Given the description of an element on the screen output the (x, y) to click on. 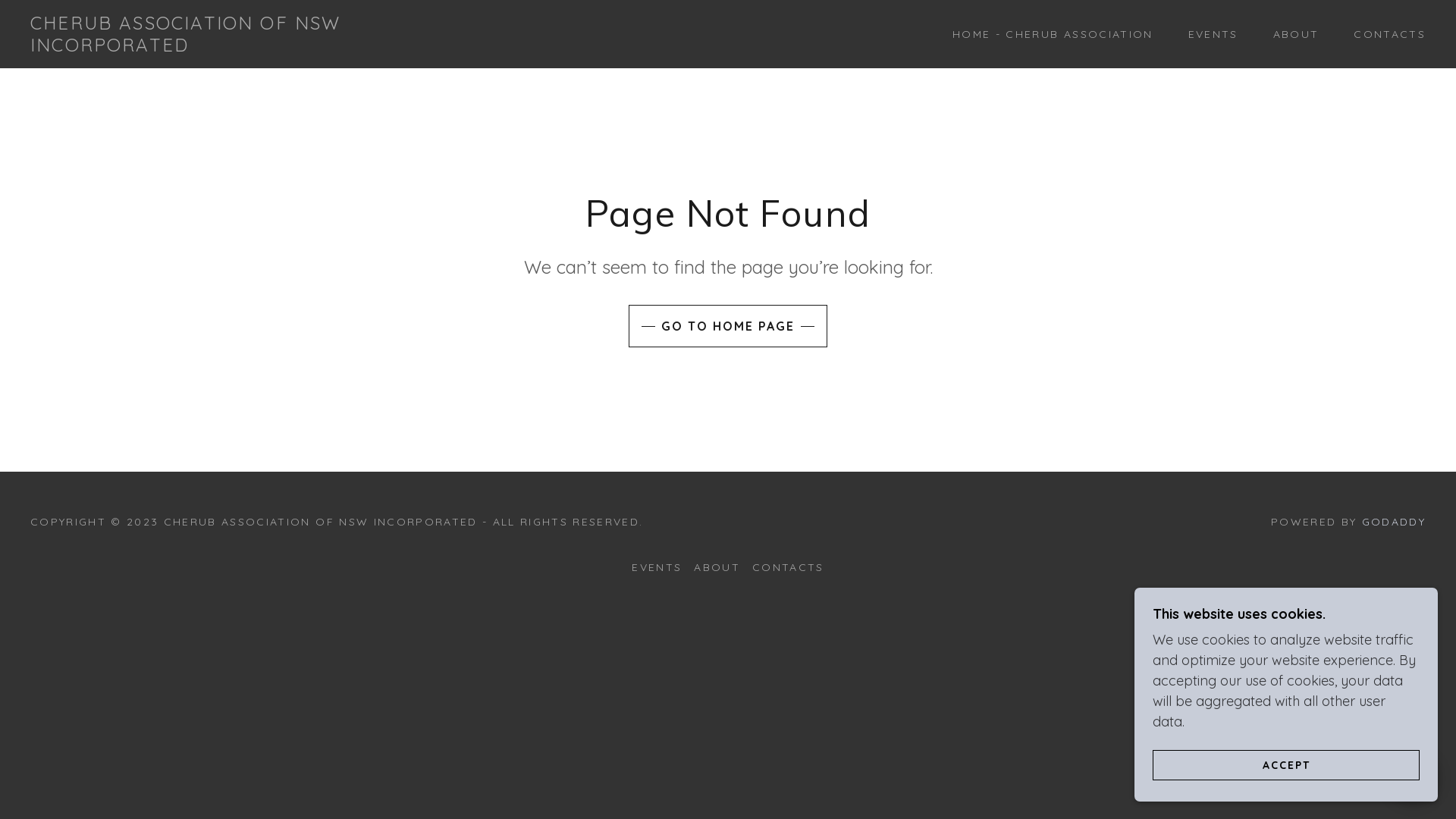
EVENTS Element type: text (656, 567)
GO TO HOME PAGE Element type: text (727, 325)
GODADDY Element type: text (1393, 521)
EVENTS Element type: text (1207, 33)
HOME - CHERUB ASSOCIATION Element type: text (1047, 33)
ACCEPT Element type: text (1285, 764)
CONTACTS Element type: text (788, 567)
CONTACTS Element type: text (1384, 33)
ABOUT Element type: text (716, 567)
CHERUB ASSOCIATION OF NSW INCORPORATED Element type: text (227, 46)
ABOUT Element type: text (1291, 33)
